Given the description of an element on the screen output the (x, y) to click on. 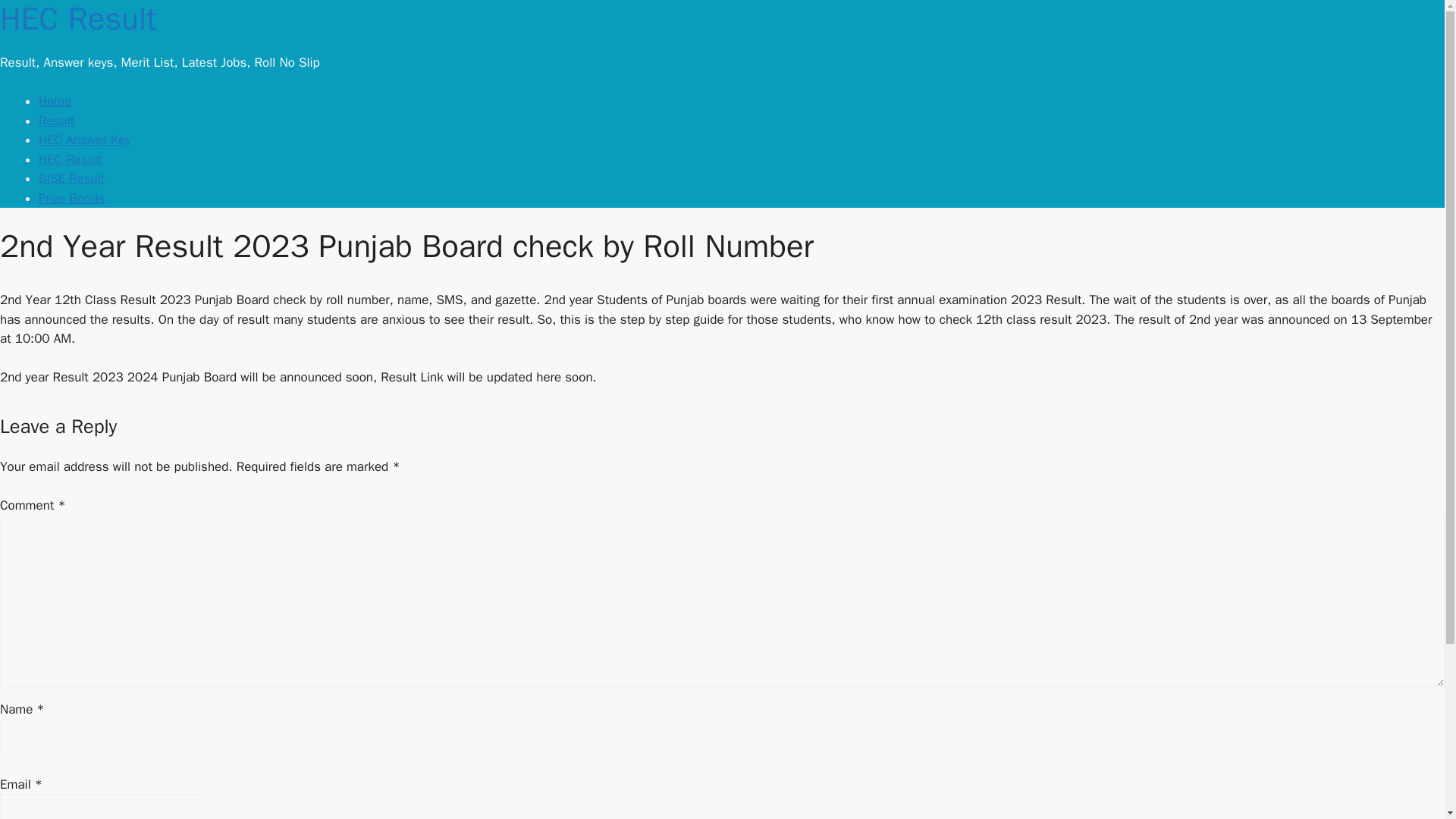
Home (77, 19)
HEC Result (70, 159)
Result (56, 120)
Prize Bonds (71, 198)
HEC Answer Key (85, 139)
HEC Result (77, 19)
BISE Result (71, 178)
Home (55, 100)
